Given the description of an element on the screen output the (x, y) to click on. 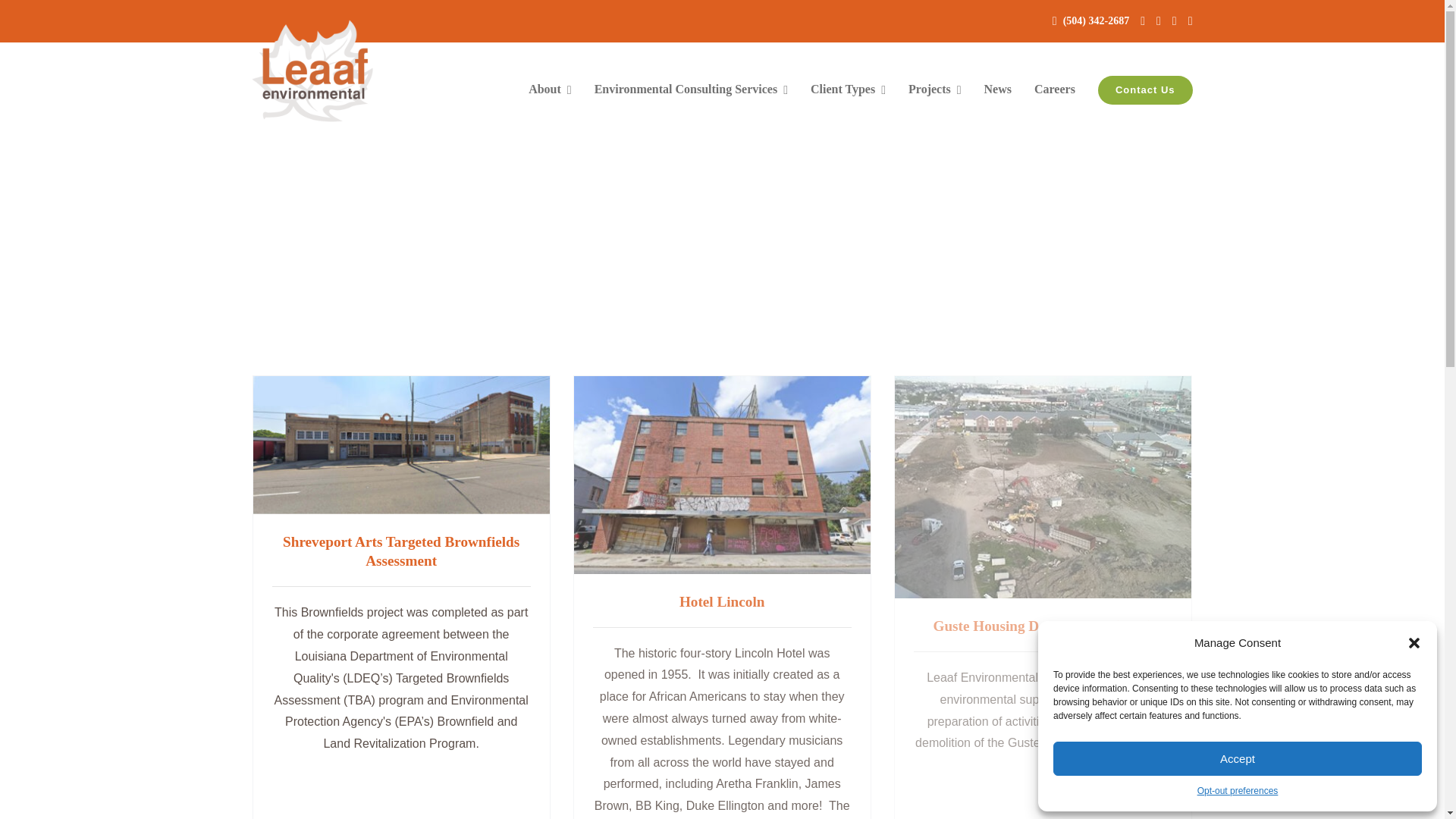
Accept (1237, 758)
Environmental Consulting Services (690, 90)
About (550, 90)
Client Types (847, 90)
Opt-out preferences (1237, 791)
